Given the description of an element on the screen output the (x, y) to click on. 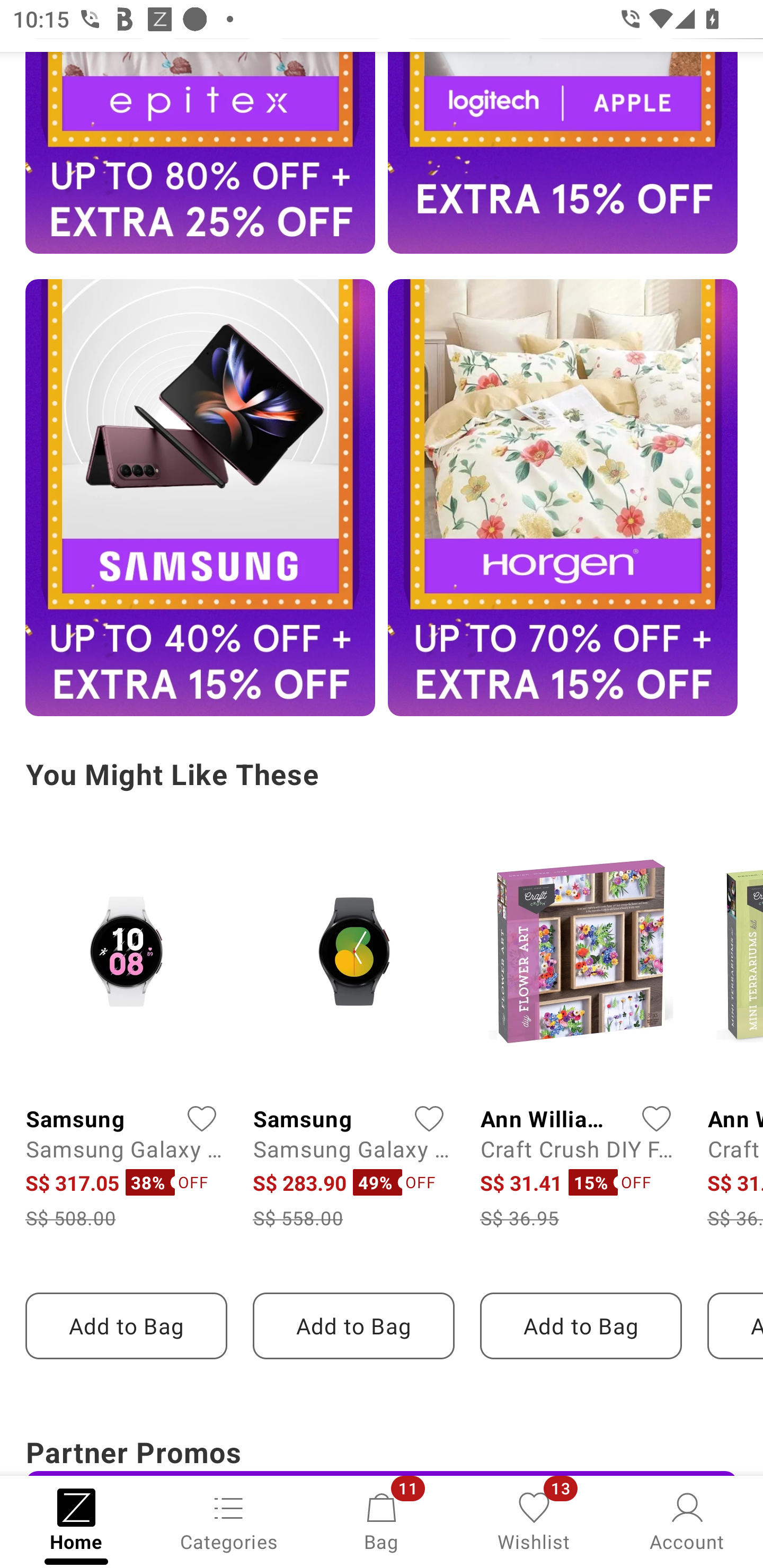
Campaign banner (200, 152)
Campaign banner (562, 152)
Campaign banner (200, 497)
Campaign banner (562, 497)
Add to Bag (126, 1325)
Add to Bag (353, 1325)
Add to Bag (580, 1325)
Partner Promos Campaign banner (381, 1451)
Categories (228, 1519)
Bag, 11 new notifications Bag (381, 1519)
Wishlist, 13 new notifications Wishlist (533, 1519)
Account (686, 1519)
